Given the description of an element on the screen output the (x, y) to click on. 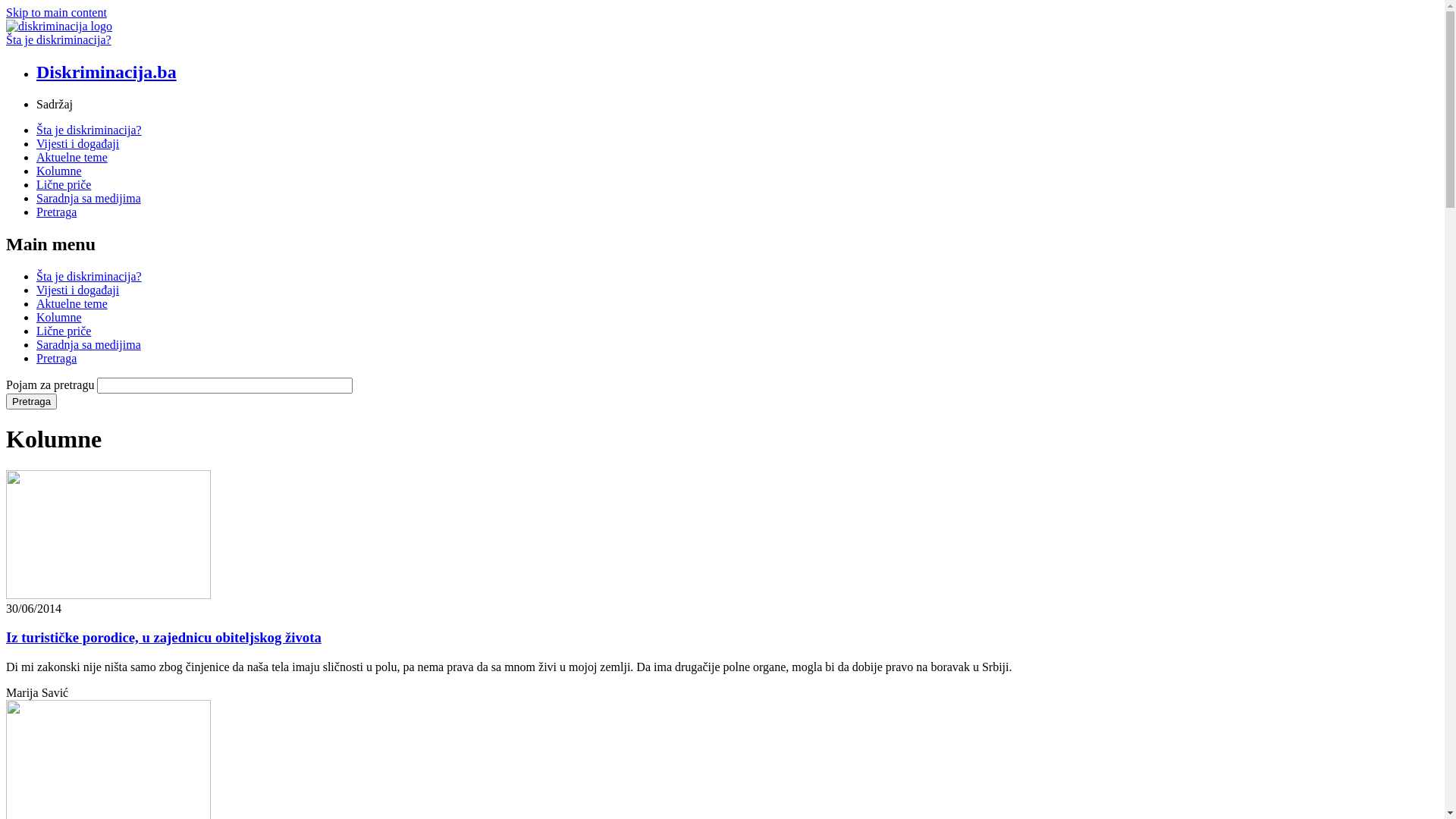
Kolumne Element type: text (58, 316)
Skip to main content Element type: text (56, 12)
Diskriminacija.ba Element type: text (106, 71)
Pretraga Element type: text (56, 357)
Pretraga Element type: text (56, 211)
Kolumne Element type: text (58, 170)
Pretraga Element type: text (31, 401)
Aktuelne teme Element type: text (71, 303)
Saradnja sa medijima Element type: text (88, 197)
Naslovnica Element type: hover (59, 25)
Aktuelne teme Element type: text (71, 156)
Saradnja sa medijima Element type: text (88, 344)
